Given the description of an element on the screen output the (x, y) to click on. 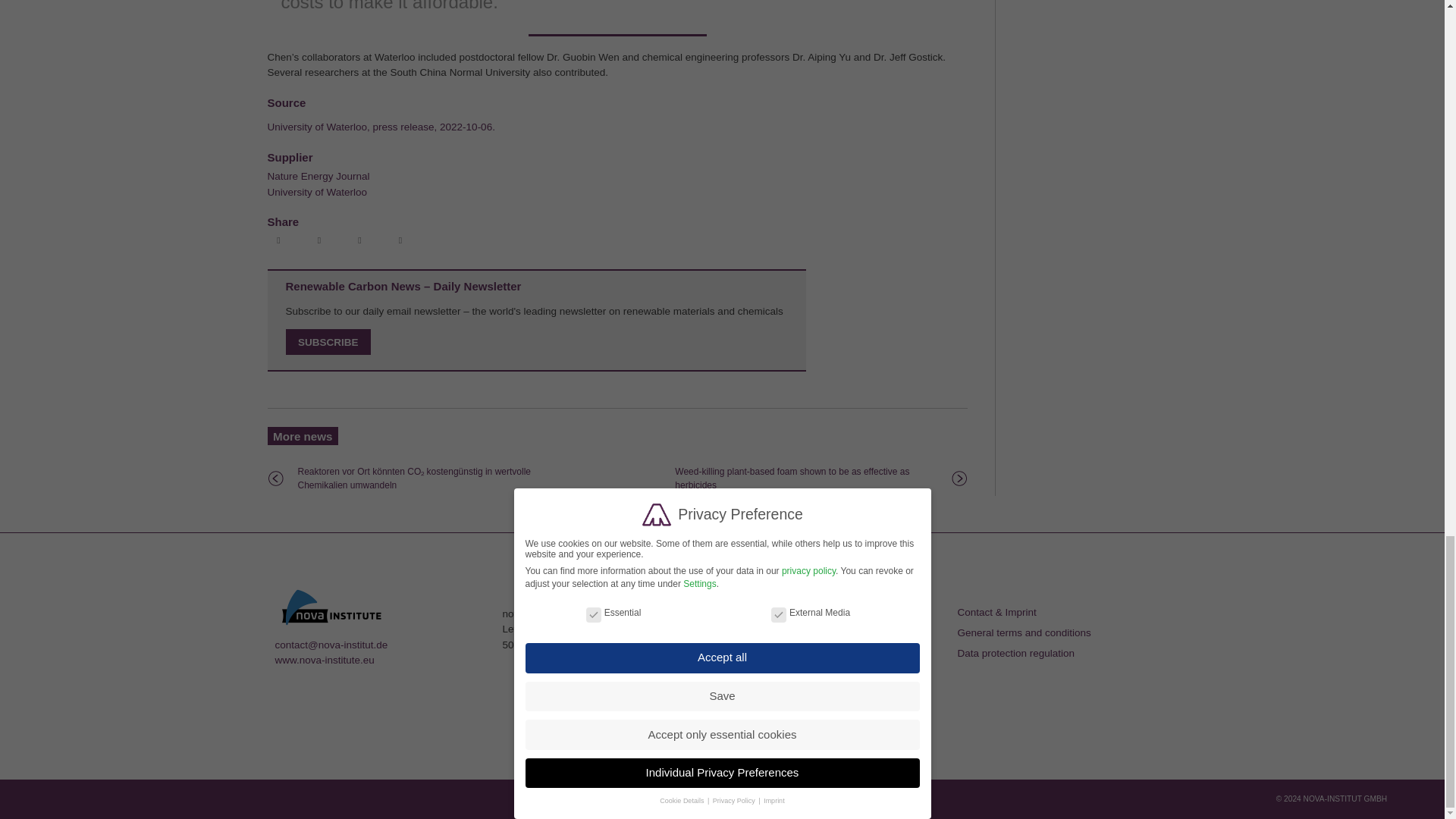
Bei Twitter teilen (320, 241)
Nature Energy Journal (317, 175)
Per E-Mail versenden (401, 241)
SUBSCRIBE (328, 342)
Bei Facebook teilen (280, 241)
University of Waterloo, press release, 2022-10-06. (380, 126)
Bei LinkedIn teilen (360, 241)
University of Waterloo (316, 192)
